Given the description of an element on the screen output the (x, y) to click on. 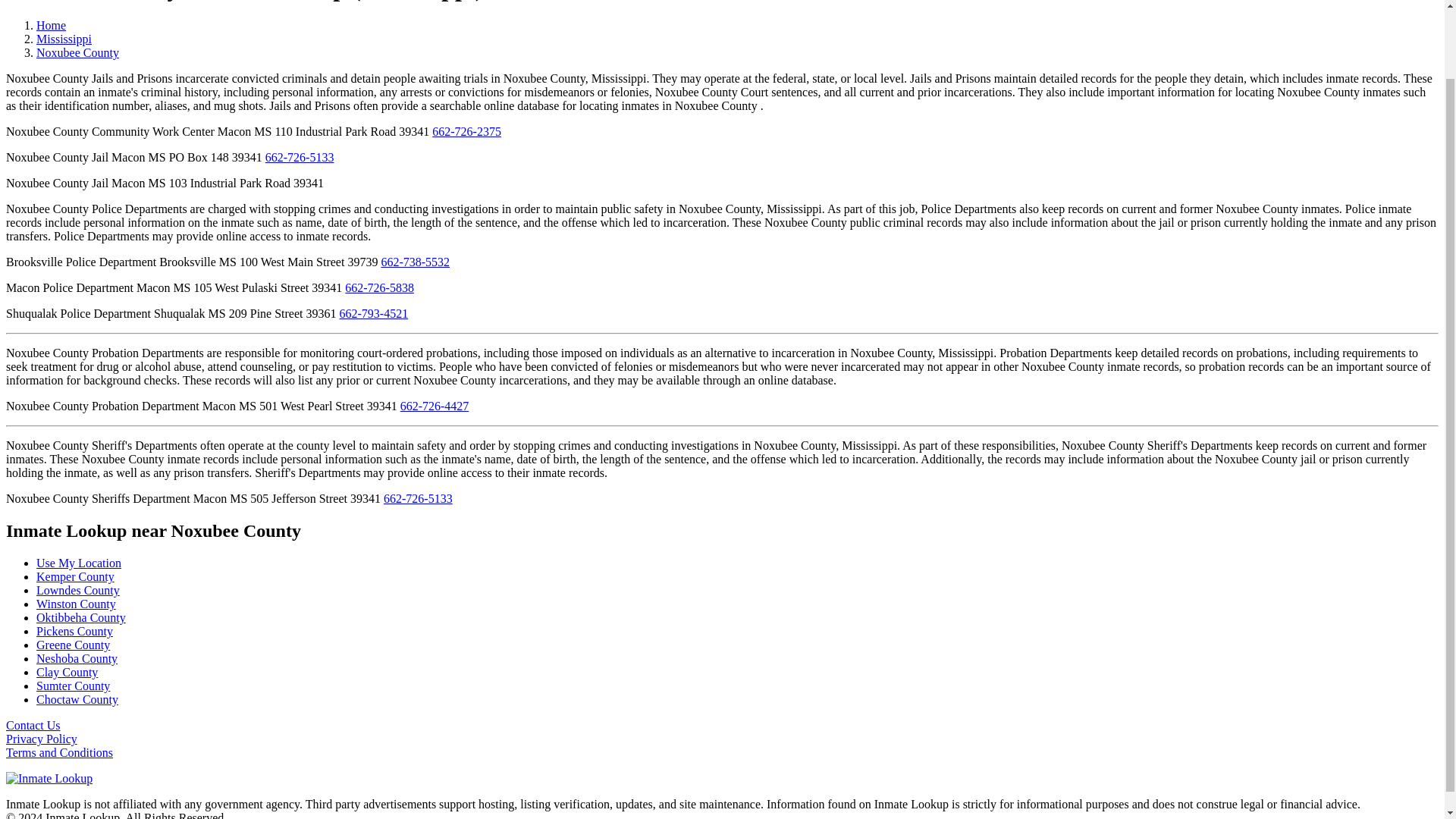
662-726-4427 (434, 405)
Choctaw County (76, 698)
Terms and Conditions (59, 752)
Neshoba County (76, 658)
662-726-2375 (466, 131)
Home (50, 24)
Mississippi (63, 38)
662-726-5838 (379, 287)
Use My Location (78, 562)
Noxubee County (77, 51)
662-793-4521 (374, 313)
Oktibbeha County (80, 617)
Inmate Lookup Near Me (78, 562)
Privacy Policy (41, 738)
Clay County (66, 671)
